Given the description of an element on the screen output the (x, y) to click on. 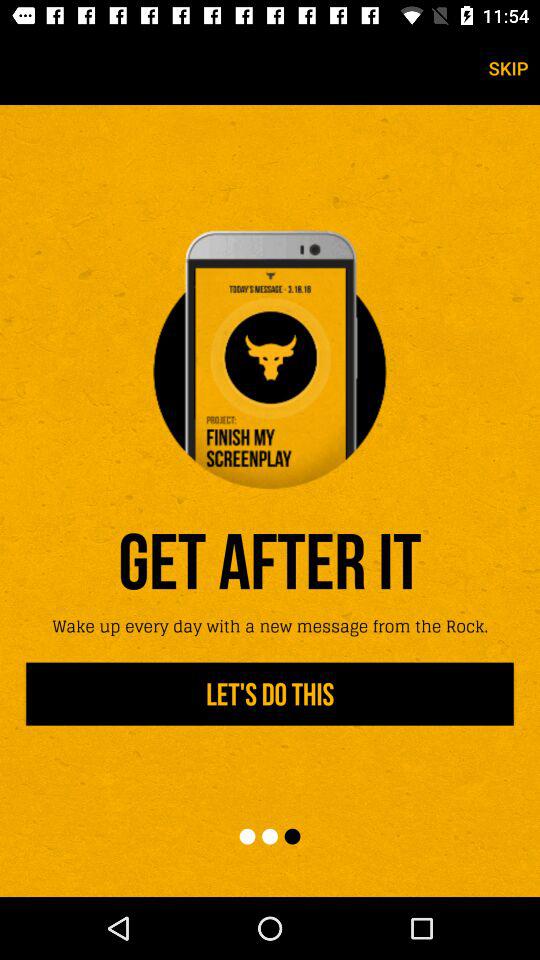
press let s do icon (269, 693)
